Given the description of an element on the screen output the (x, y) to click on. 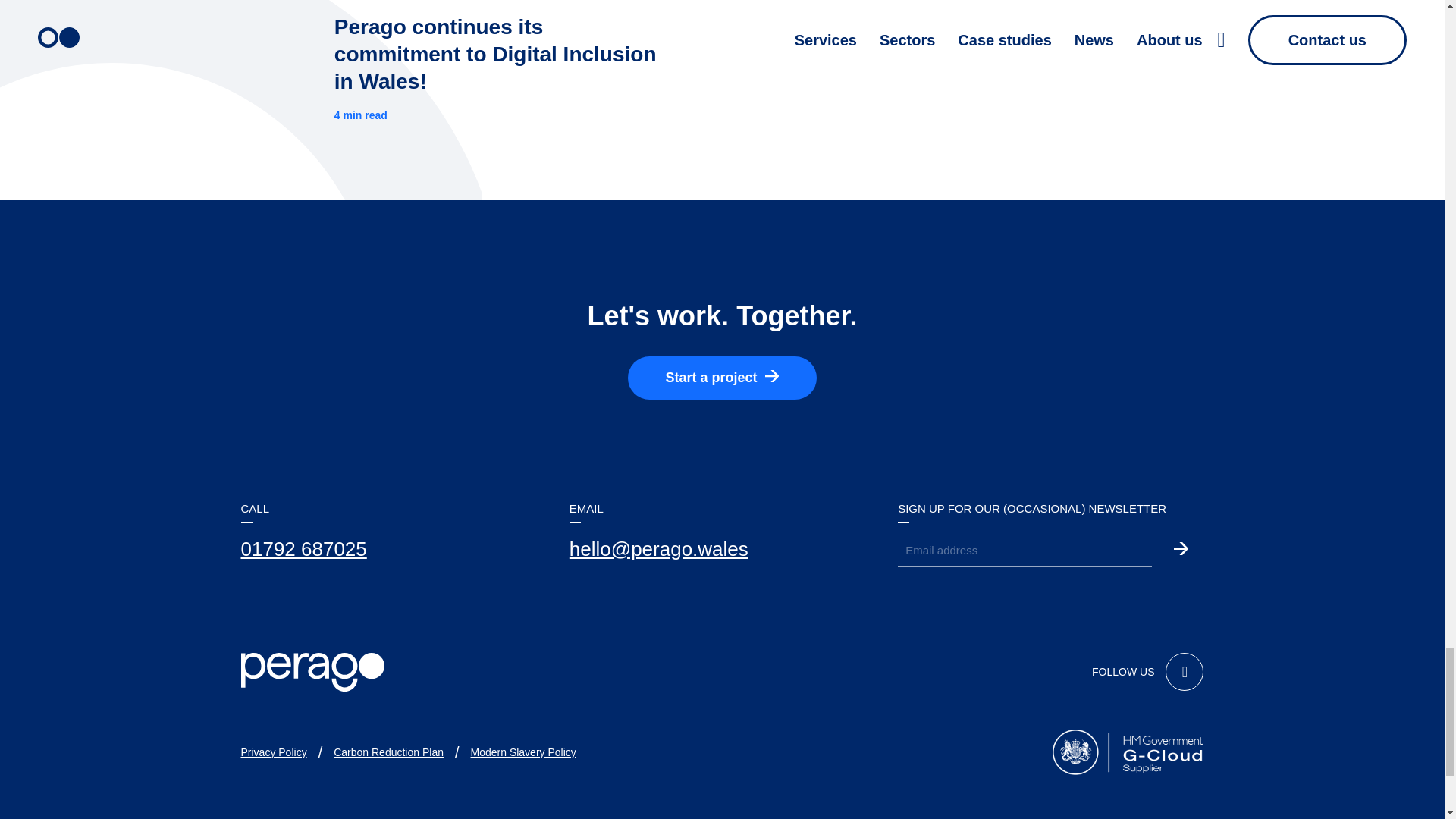
Privacy Policy (274, 752)
01792 687025 (303, 549)
Carbon Reduction Plan (388, 752)
Submit (1180, 551)
Start a project (721, 377)
Modern Slavery Policy (523, 752)
Submit (1180, 551)
